Given the description of an element on the screen output the (x, y) to click on. 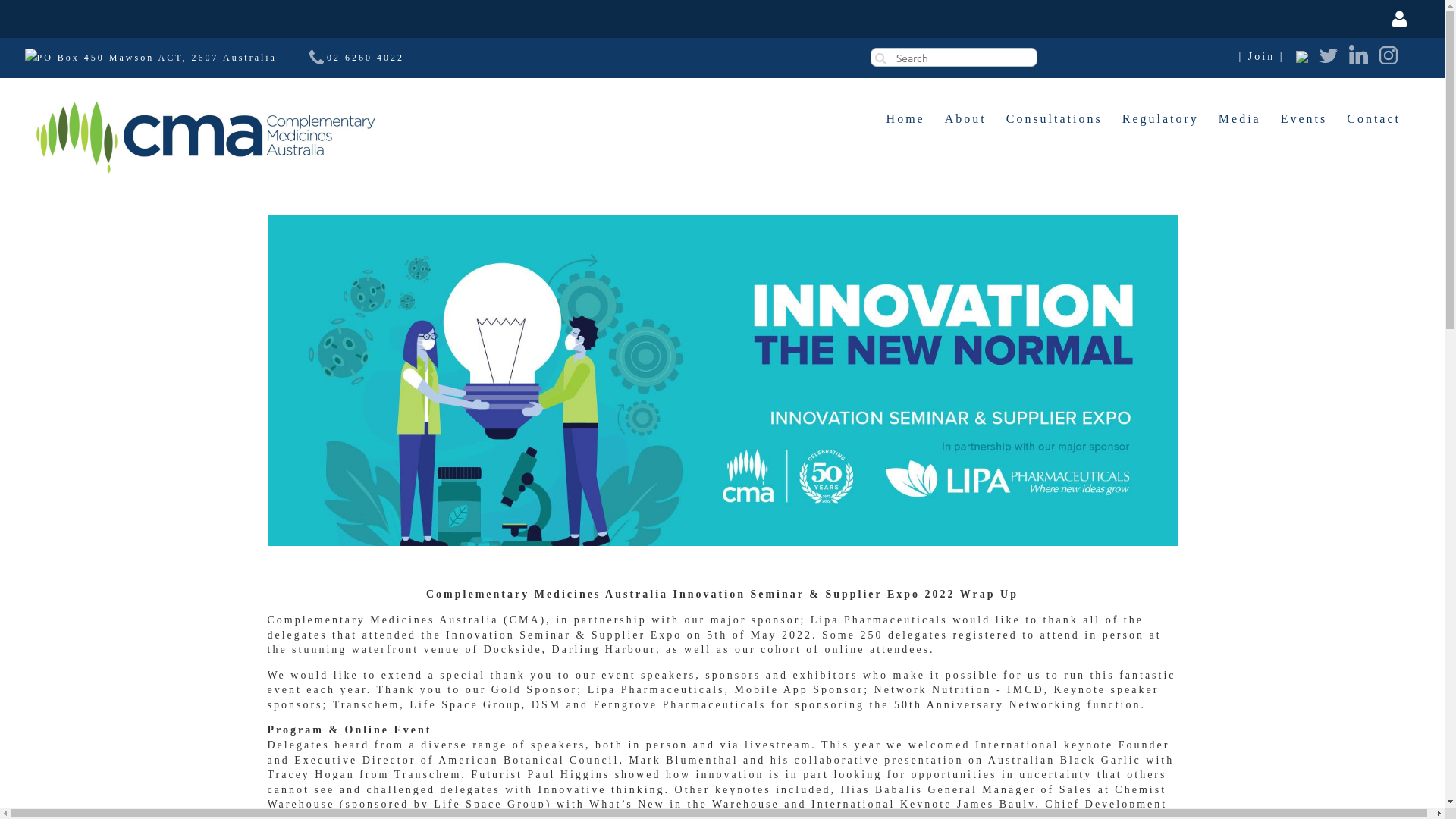
Media Element type: text (1239, 118)
Events Element type: text (1303, 118)
Contact Element type: text (1373, 118)
About Element type: text (965, 118)
| Join | Element type: text (1261, 56)
Home Element type: text (905, 118)
Regulatory Element type: text (1160, 118)
Consultations Element type: text (1054, 118)
